Given the description of an element on the screen output the (x, y) to click on. 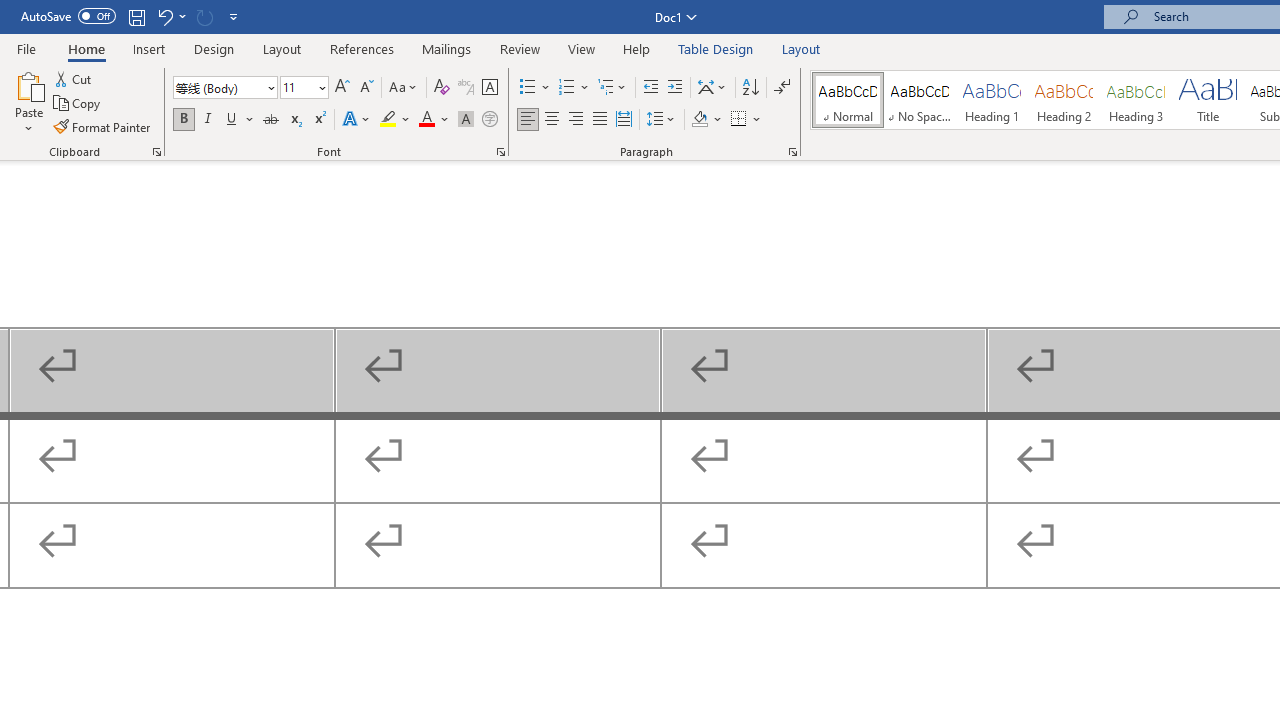
Heading 2 (1063, 100)
Font Color Red (426, 119)
